Given the description of an element on the screen output the (x, y) to click on. 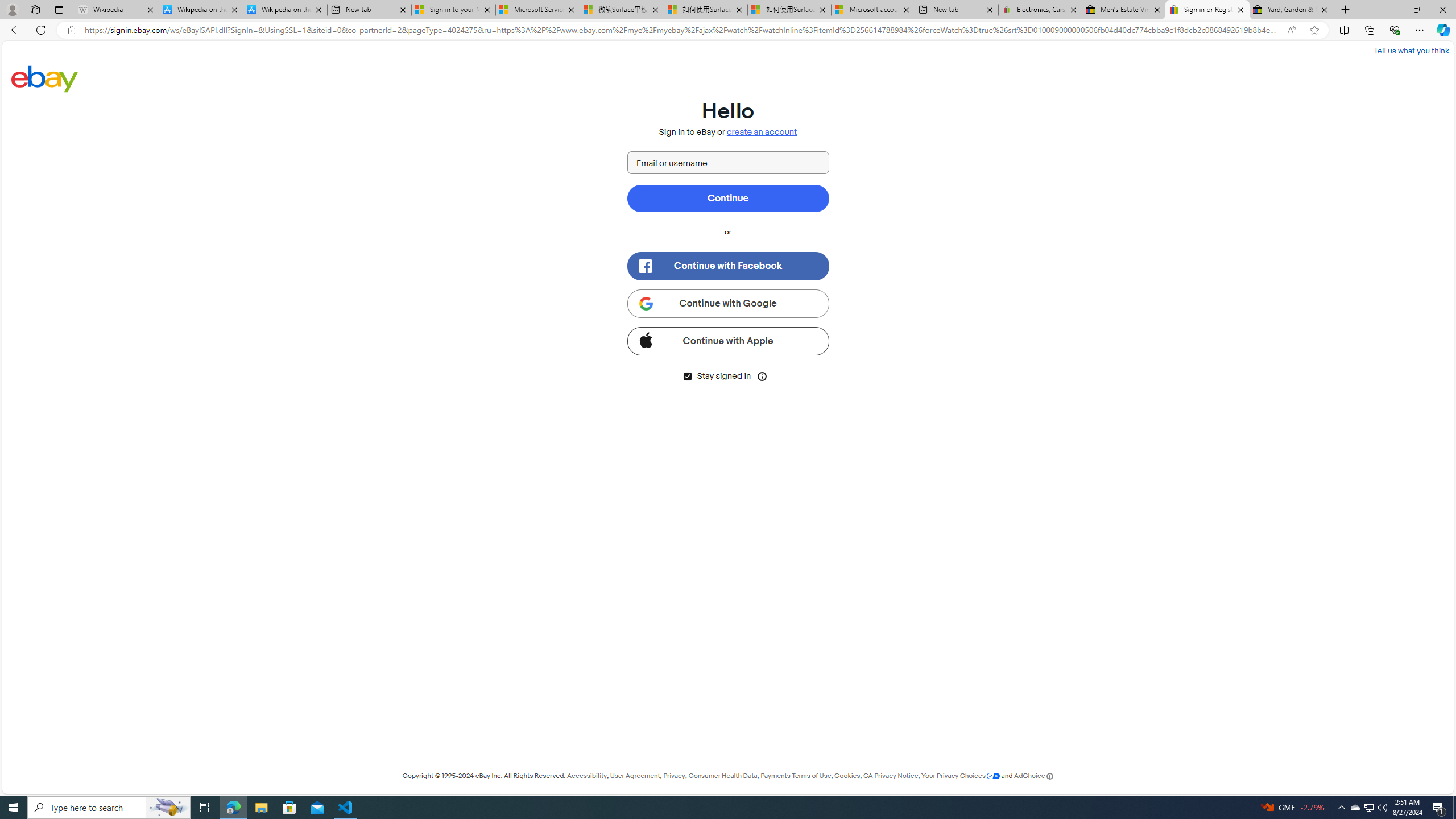
Yard, Garden & Outdoor Living (1291, 9)
Continue with Apple (727, 340)
Accessibility (586, 775)
Continue with Google (727, 303)
Continue with Facebook (727, 266)
Consumer Health Data (722, 775)
eBay Home (44, 78)
Stay signed in (687, 376)
